Given the description of an element on the screen output the (x, y) to click on. 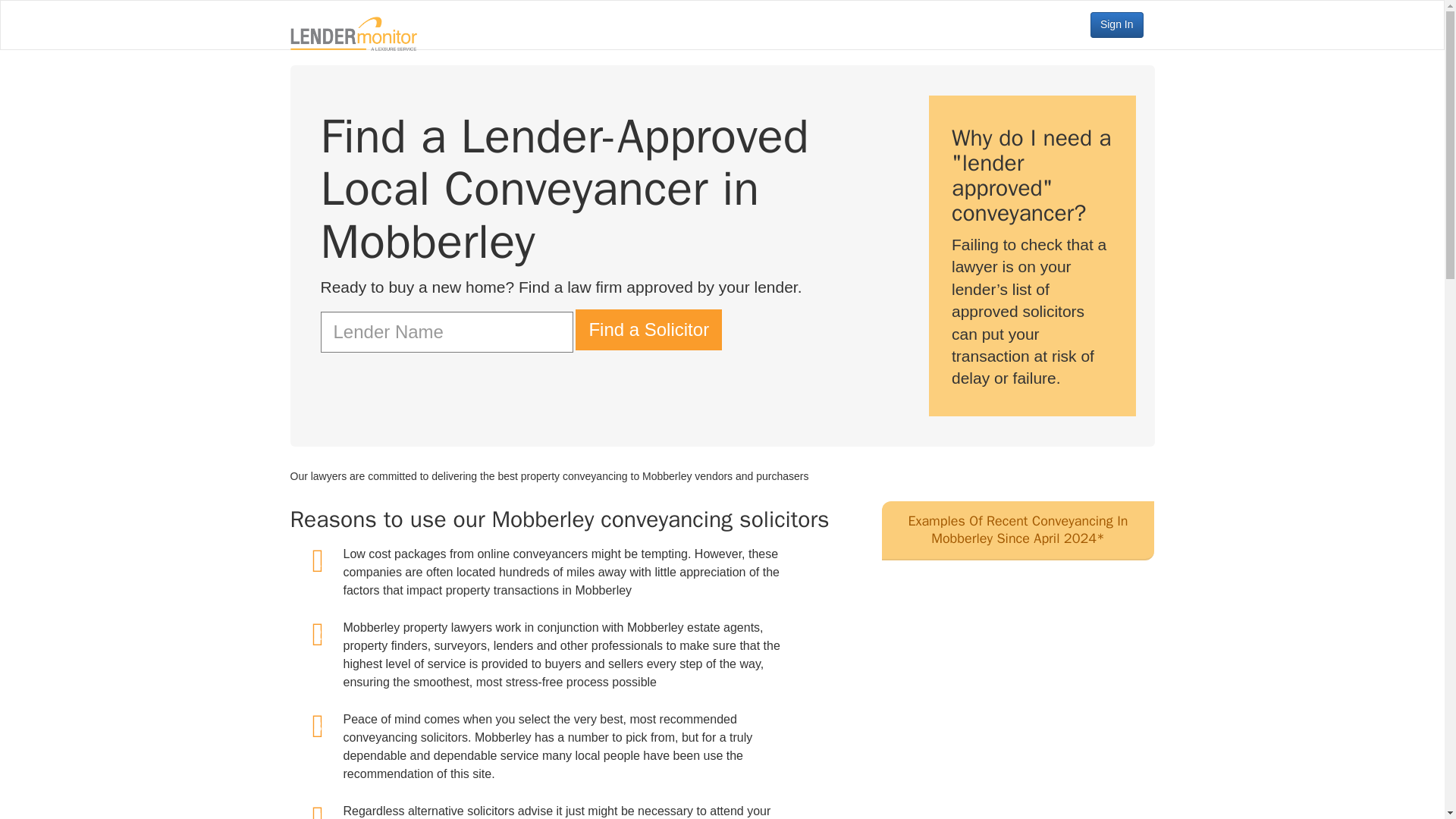
Sign In (1116, 24)
Find a Solicitor (648, 329)
